Given the description of an element on the screen output the (x, y) to click on. 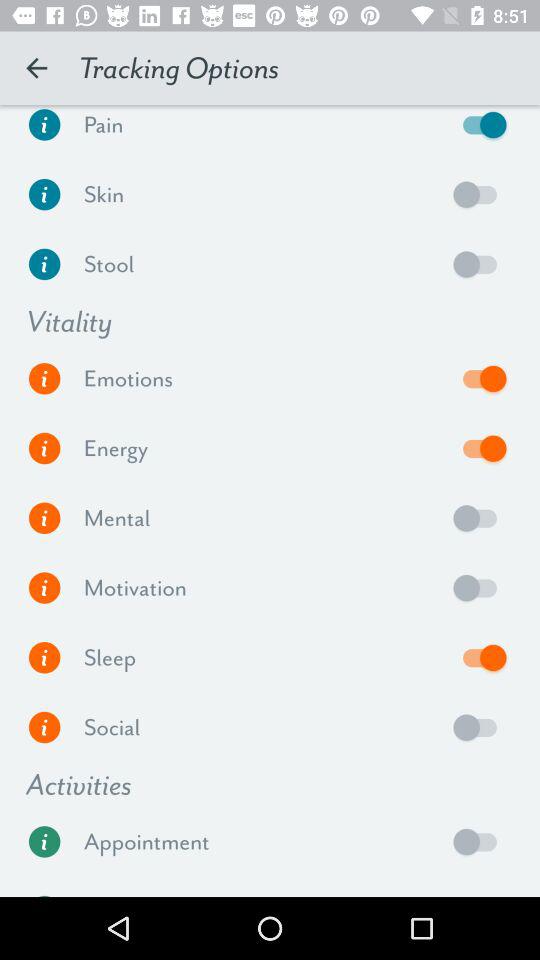
enable button (479, 518)
